Given the description of an element on the screen output the (x, y) to click on. 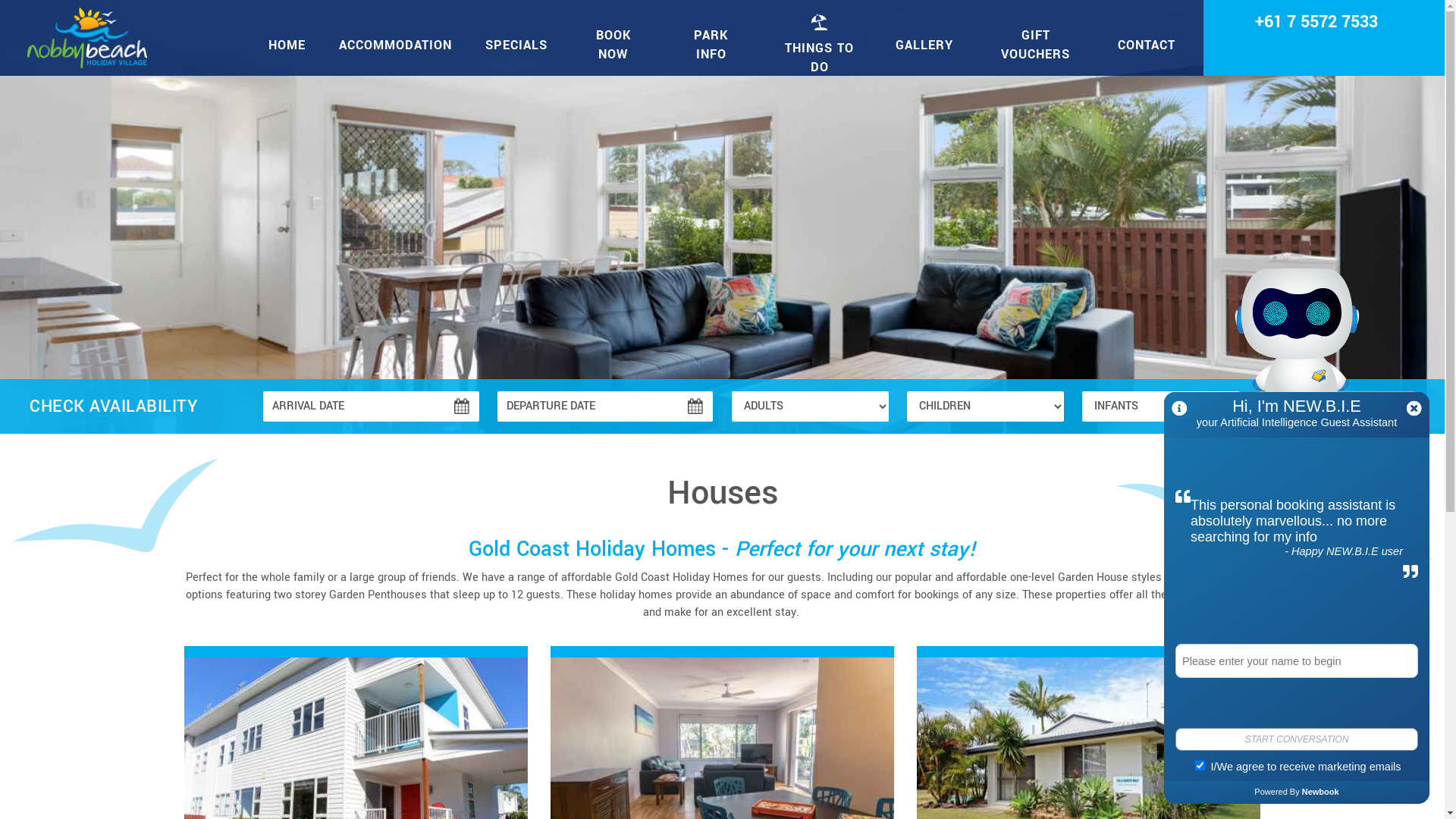
+61 7 5572 7533 Element type: text (1316, 21)
GALLERY Element type: text (923, 44)
CONTACT Element type: text (1146, 44)
PARK INFO Element type: text (710, 44)
GIFT VOUCHERS Element type: text (1035, 44)
THINGS TO DO Element type: text (818, 45)
Book Now Element type: text (1336, 406)
SPECIALS Element type: text (516, 44)
BOOK NOW Element type: text (613, 44)
ACCOMMODATION Element type: text (395, 44)
HOME Element type: text (286, 44)
